Given the description of an element on the screen output the (x, y) to click on. 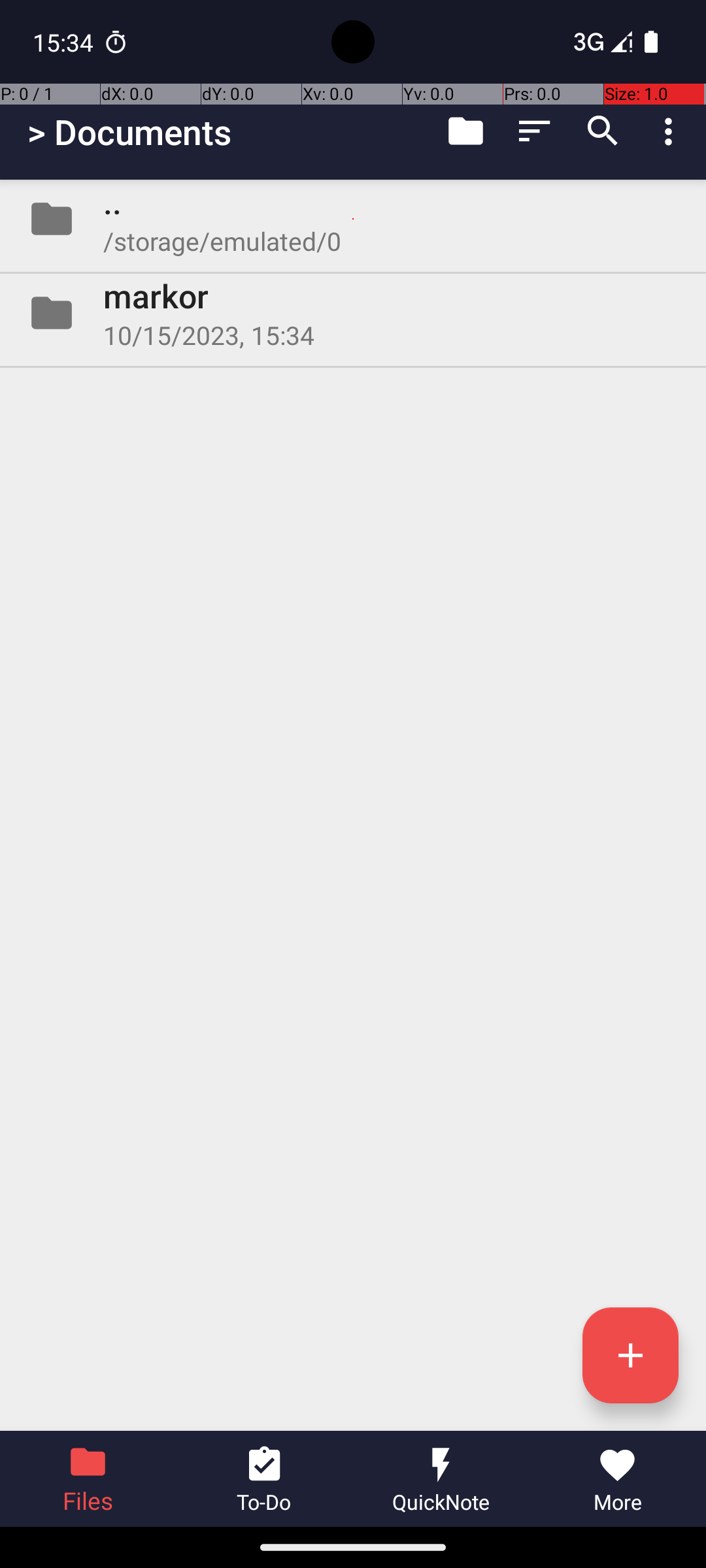
Folder markor  Element type: android.widget.LinearLayout (353, 312)
